Given the description of an element on the screen output the (x, y) to click on. 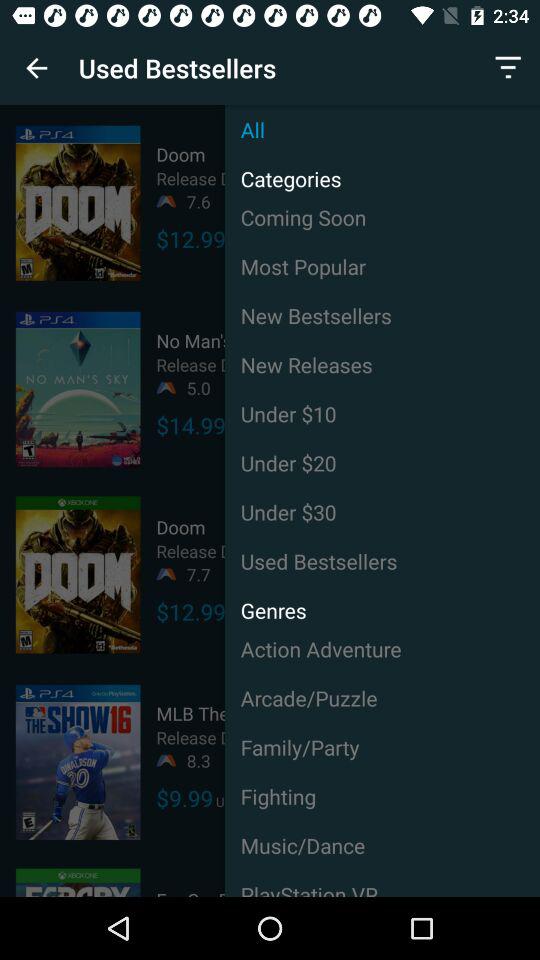
tap the icon next to $14.99 (382, 413)
